Given the description of an element on the screen output the (x, y) to click on. 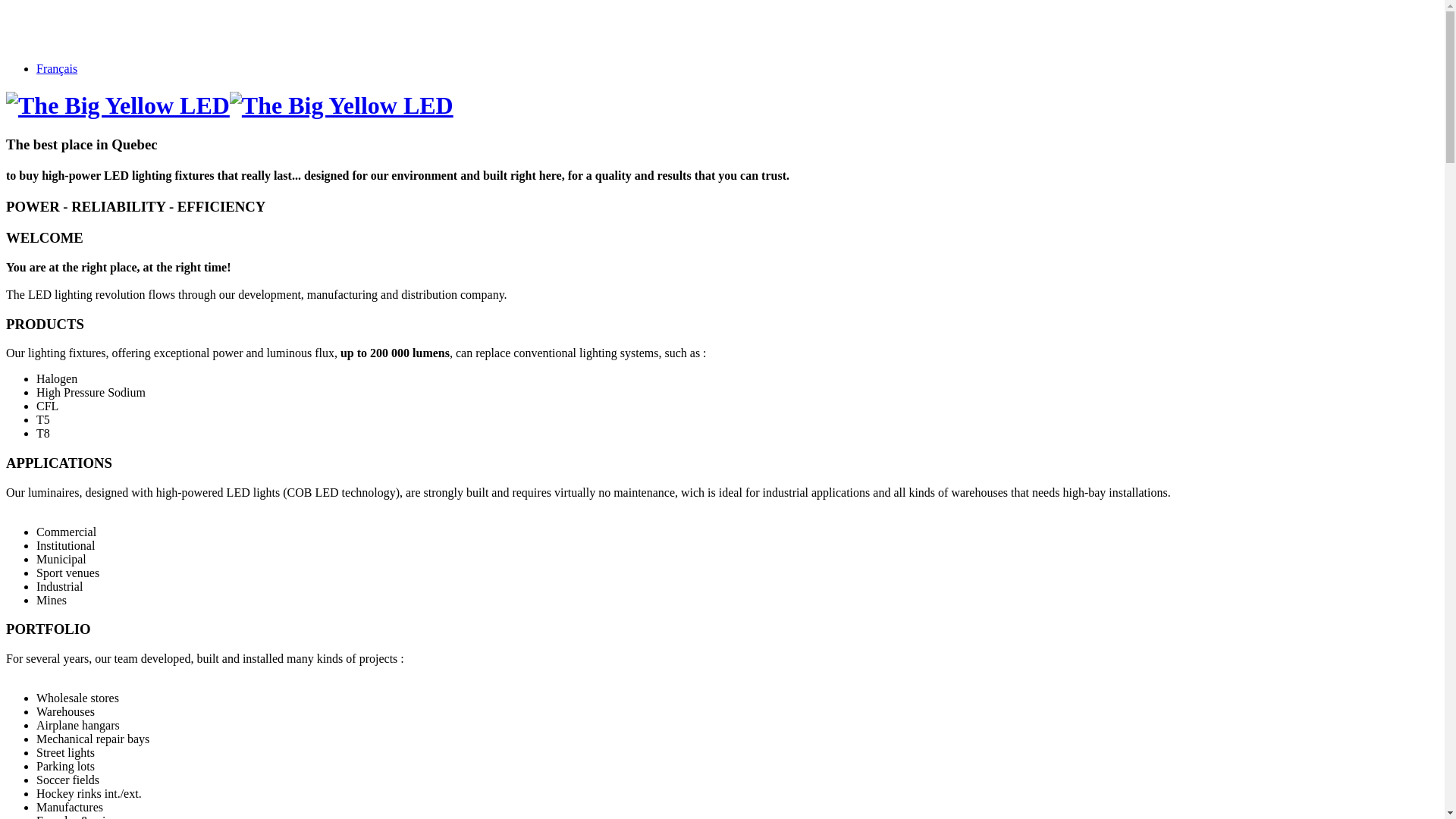
Bright ideas to save BIG money! Element type: hover (117, 105)
Bright ideas to save BIG money! Element type: hover (341, 105)
